Given the description of an element on the screen output the (x, y) to click on. 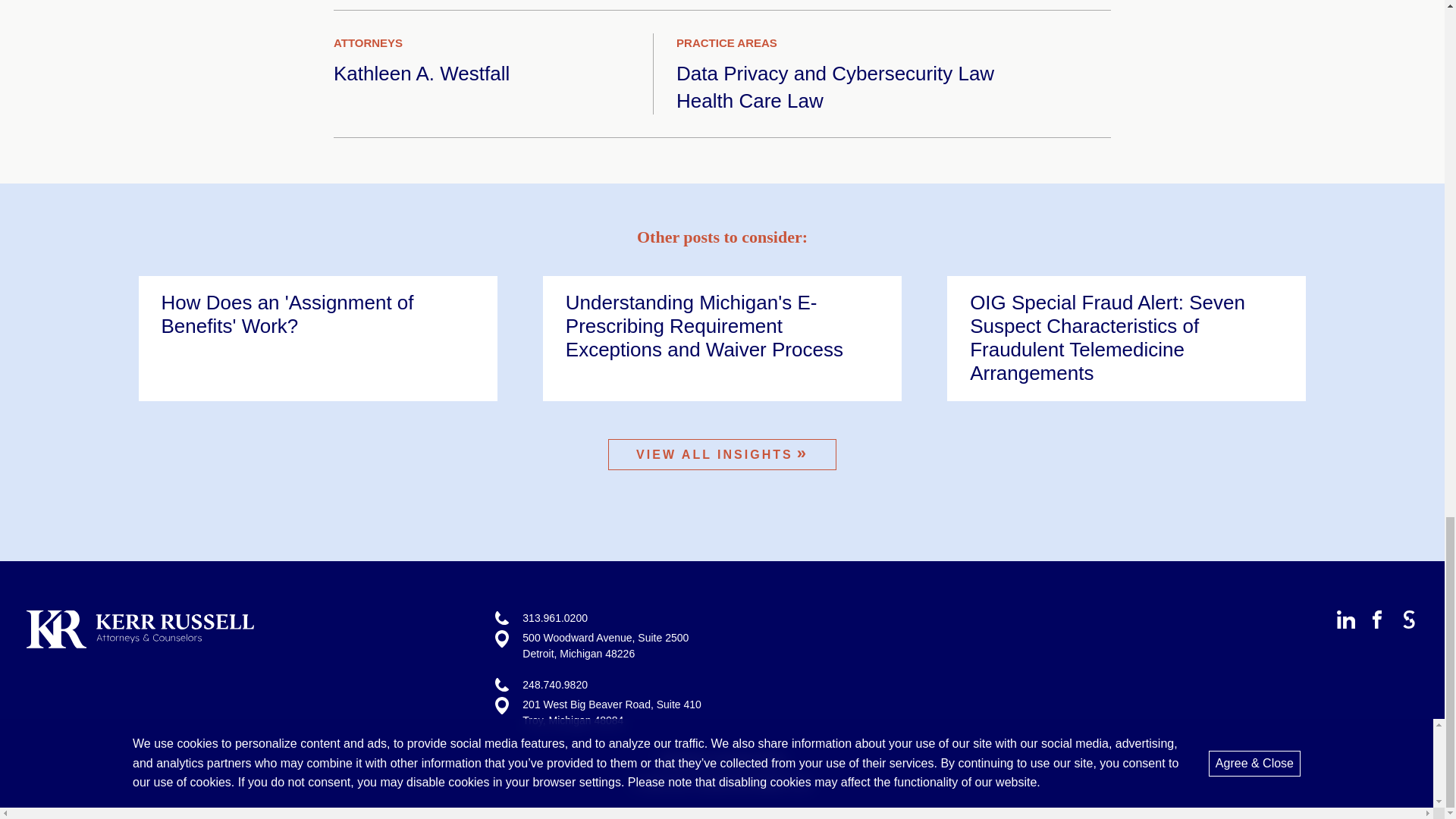
Kerr Russell home (139, 644)
313.961.0200 (555, 617)
VIEW ALL INSIGHTS (721, 453)
How Does an 'Assignment of Benefits' Work? (317, 314)
Health Care Law (750, 100)
Kathleen A. Westfall (421, 73)
Data Privacy and Cybersecurity Law (835, 73)
248.740.9820 (555, 684)
